Given the description of an element on the screen output the (x, y) to click on. 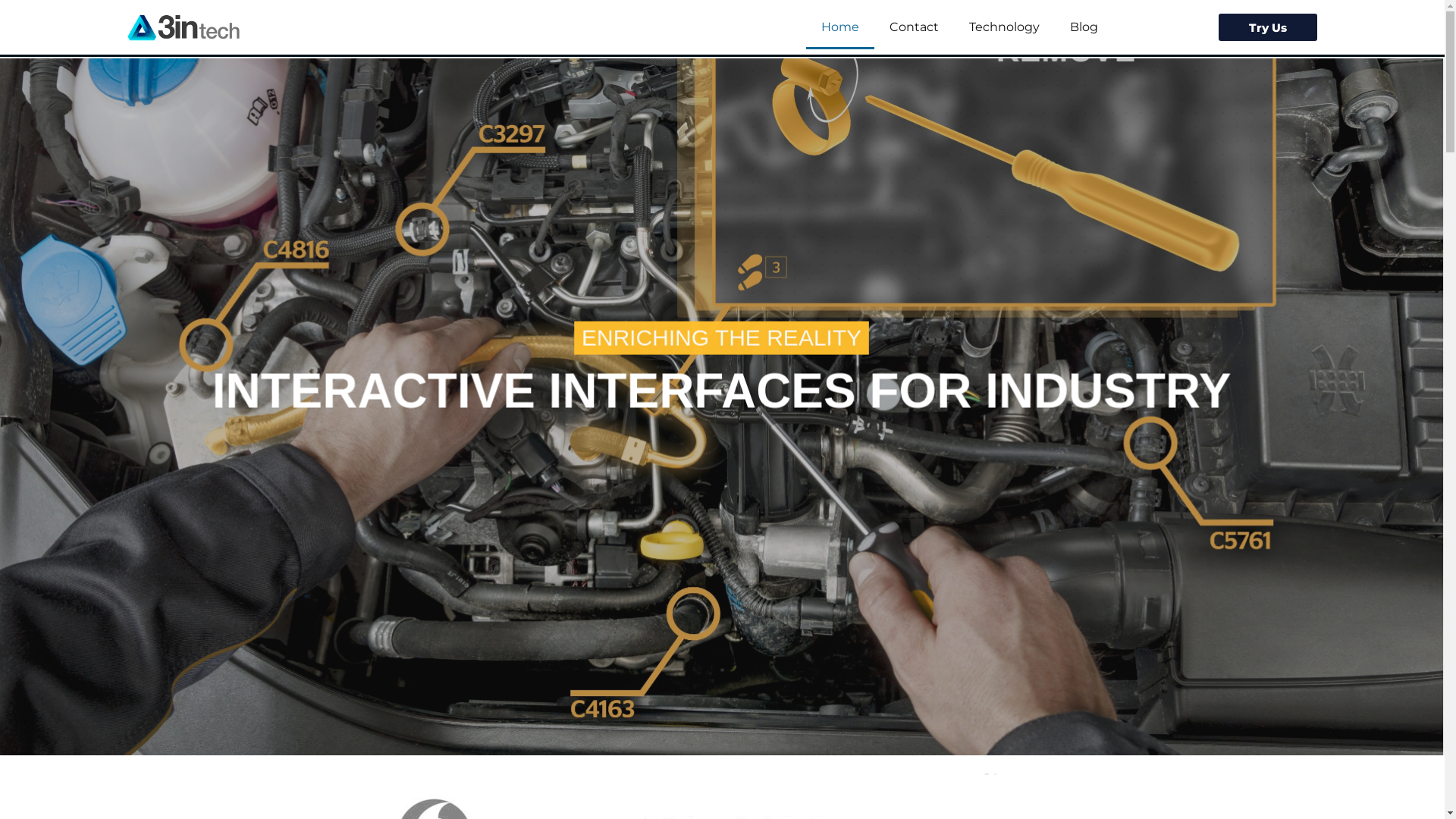
Home Element type: text (840, 27)
Blog Element type: text (1083, 27)
Contact Element type: text (913, 27)
Technology Element type: text (1003, 27)
Try Us Element type: text (1267, 26)
